Given the description of an element on the screen output the (x, y) to click on. 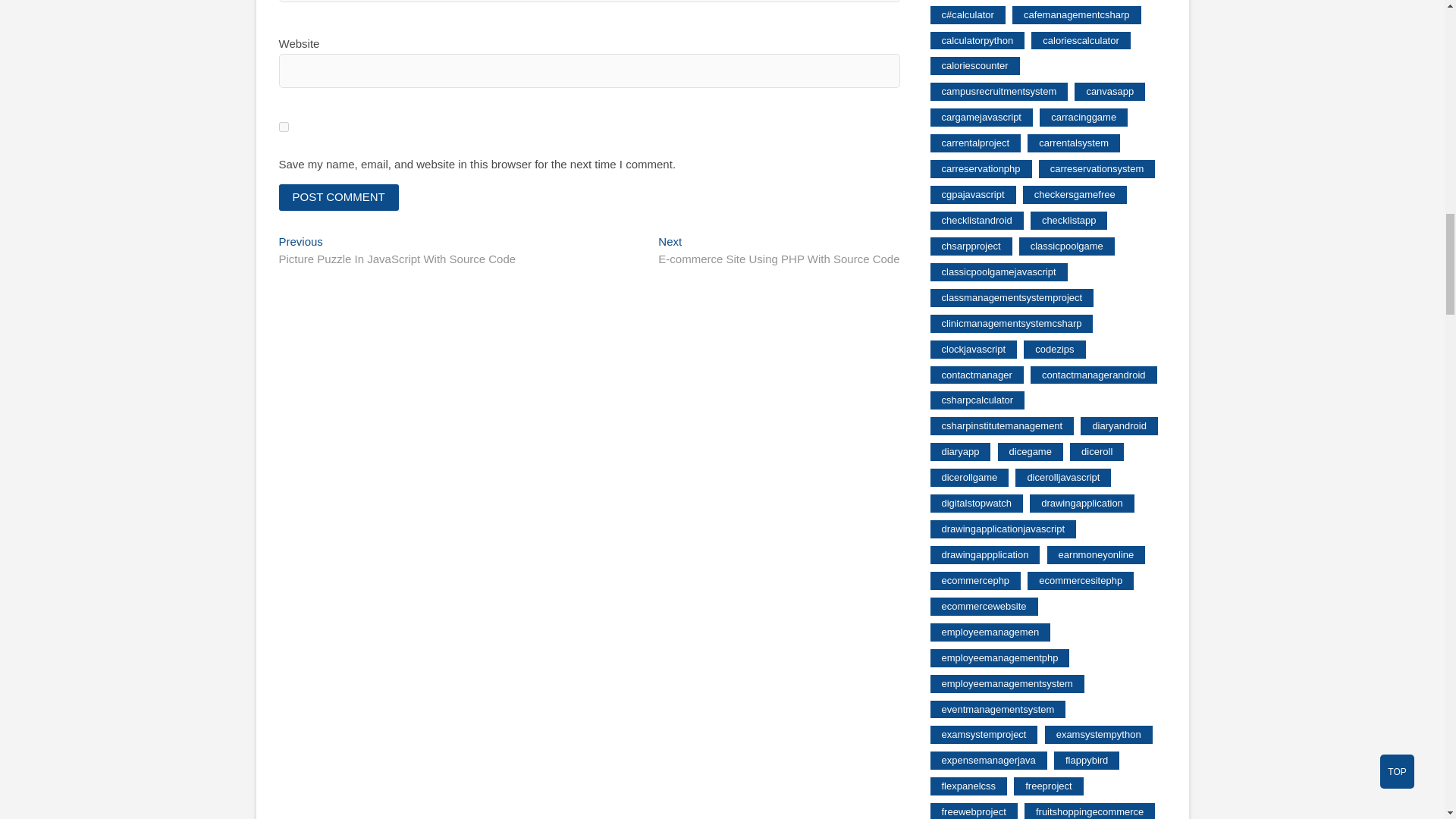
Post Comment (338, 197)
Post Comment (338, 197)
yes (778, 251)
